Given the description of an element on the screen output the (x, y) to click on. 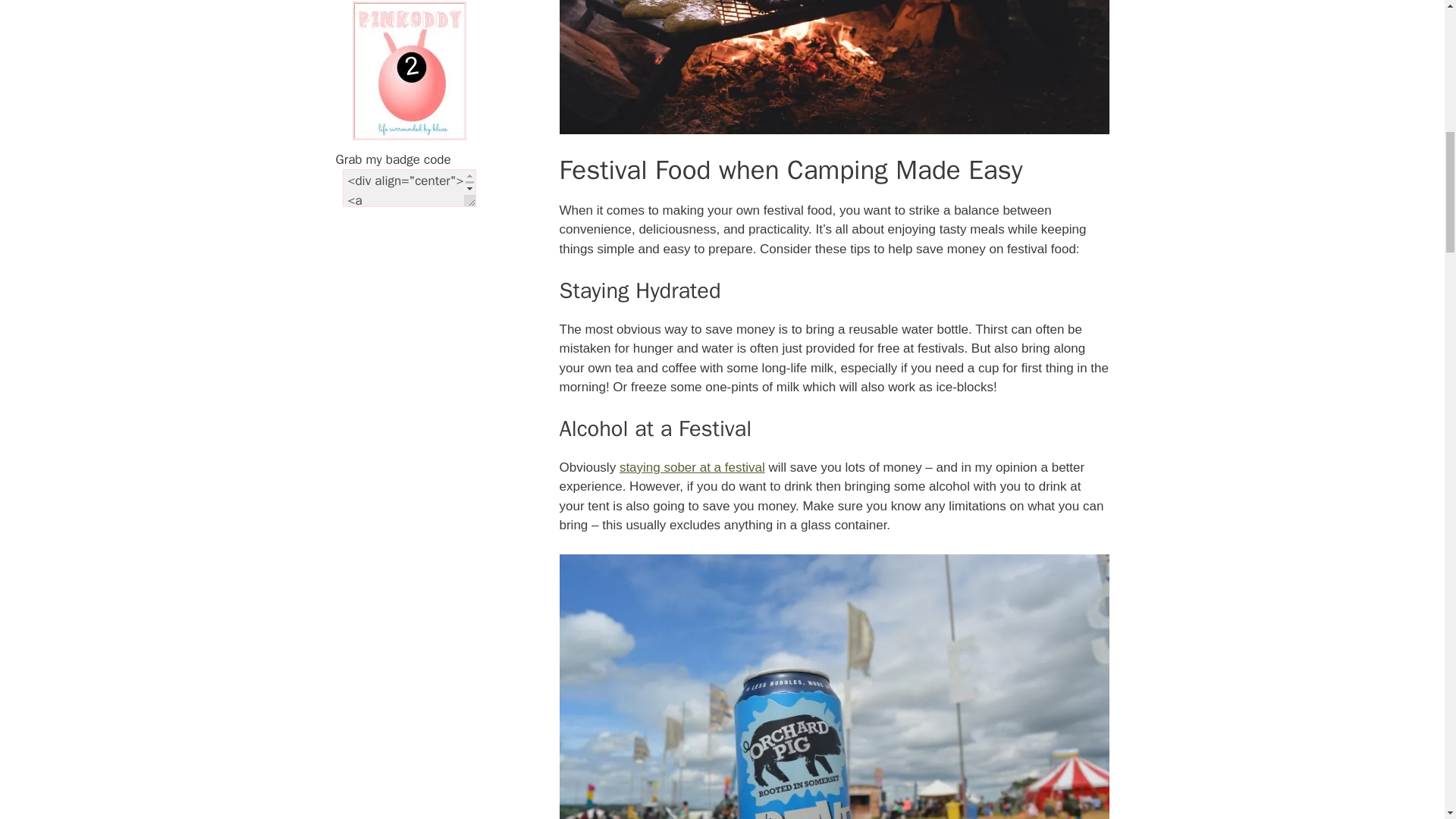
staying sober at a festival (692, 467)
